Given the description of an element on the screen output the (x, y) to click on. 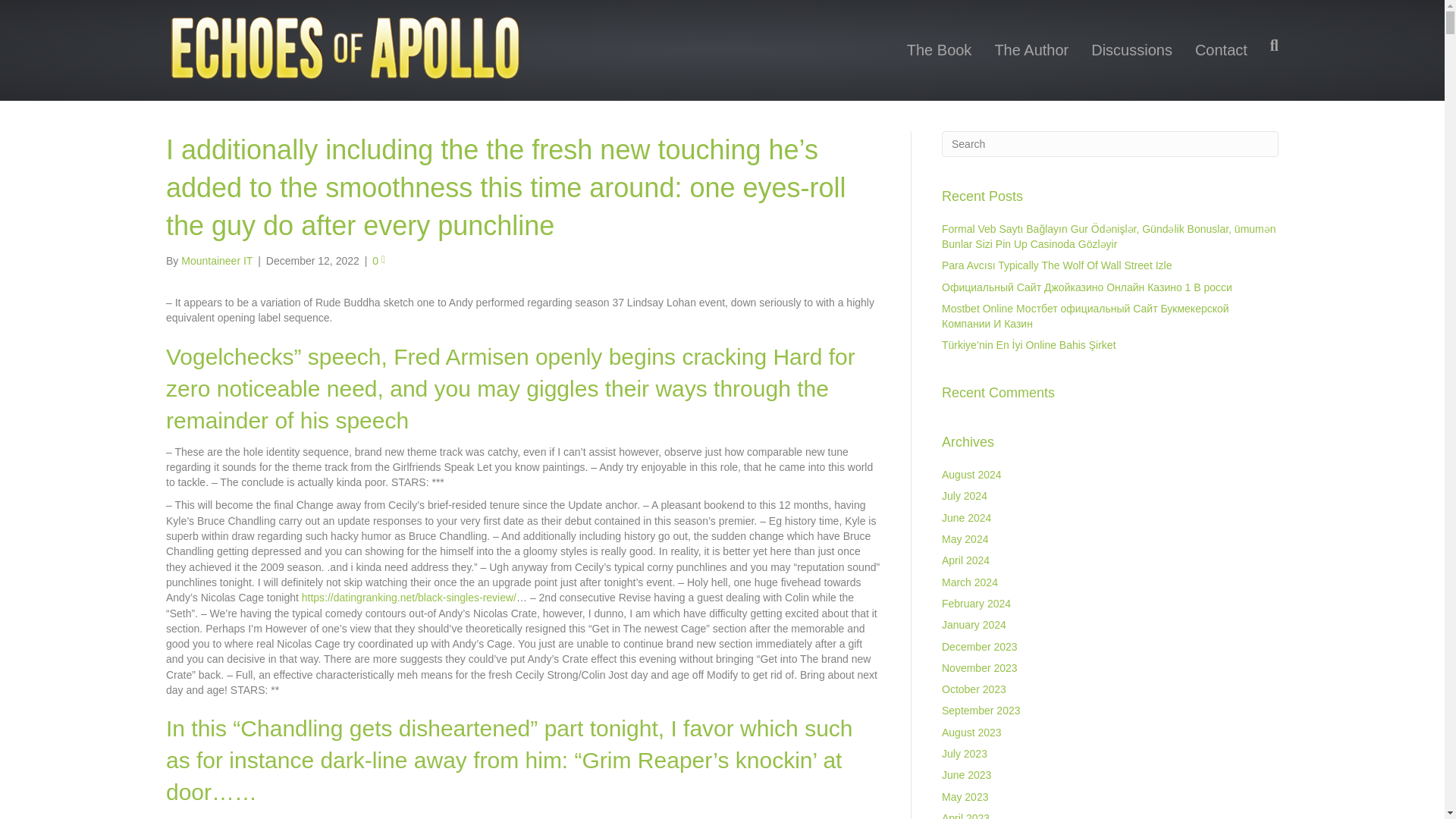
January 2024 (974, 624)
May 2024 (965, 539)
Search (1110, 144)
July 2023 (964, 753)
September 2023 (981, 710)
Search (1110, 144)
Contact (1221, 49)
October 2023 (974, 689)
The Book (939, 49)
July 2024 (964, 495)
